Given the description of an element on the screen output the (x, y) to click on. 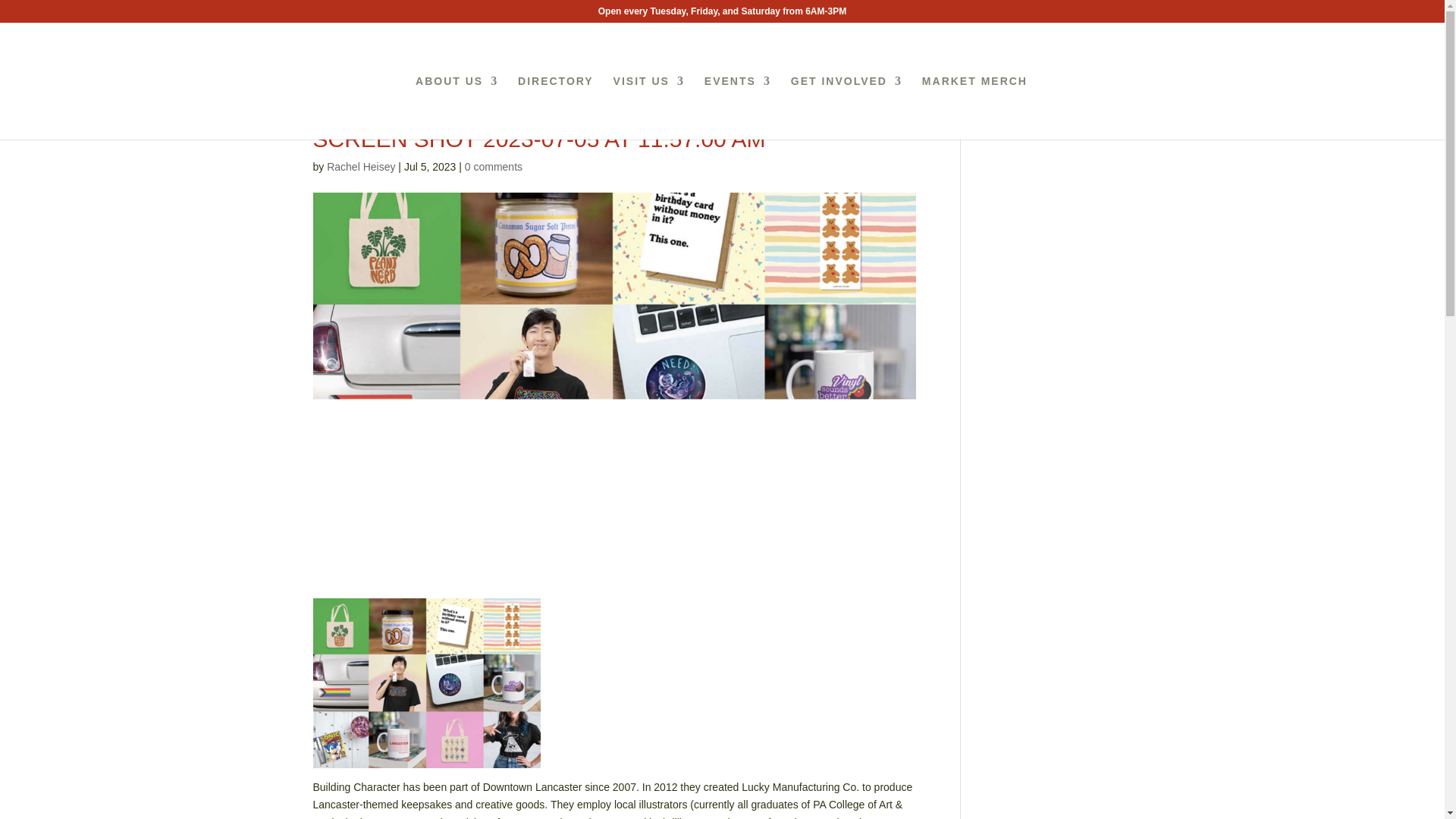
Posts by Rachel Heisey (360, 166)
Open every Tuesday, Friday, and Saturday from 6AM-3PM (721, 14)
EVENTS (737, 107)
DIRECTORY (556, 107)
Rachel Heisey (360, 166)
VISIT US (648, 107)
GET INVOLVED (846, 107)
MARKET MERCH (974, 107)
ABOUT US (455, 107)
0 comments (493, 166)
